Given the description of an element on the screen output the (x, y) to click on. 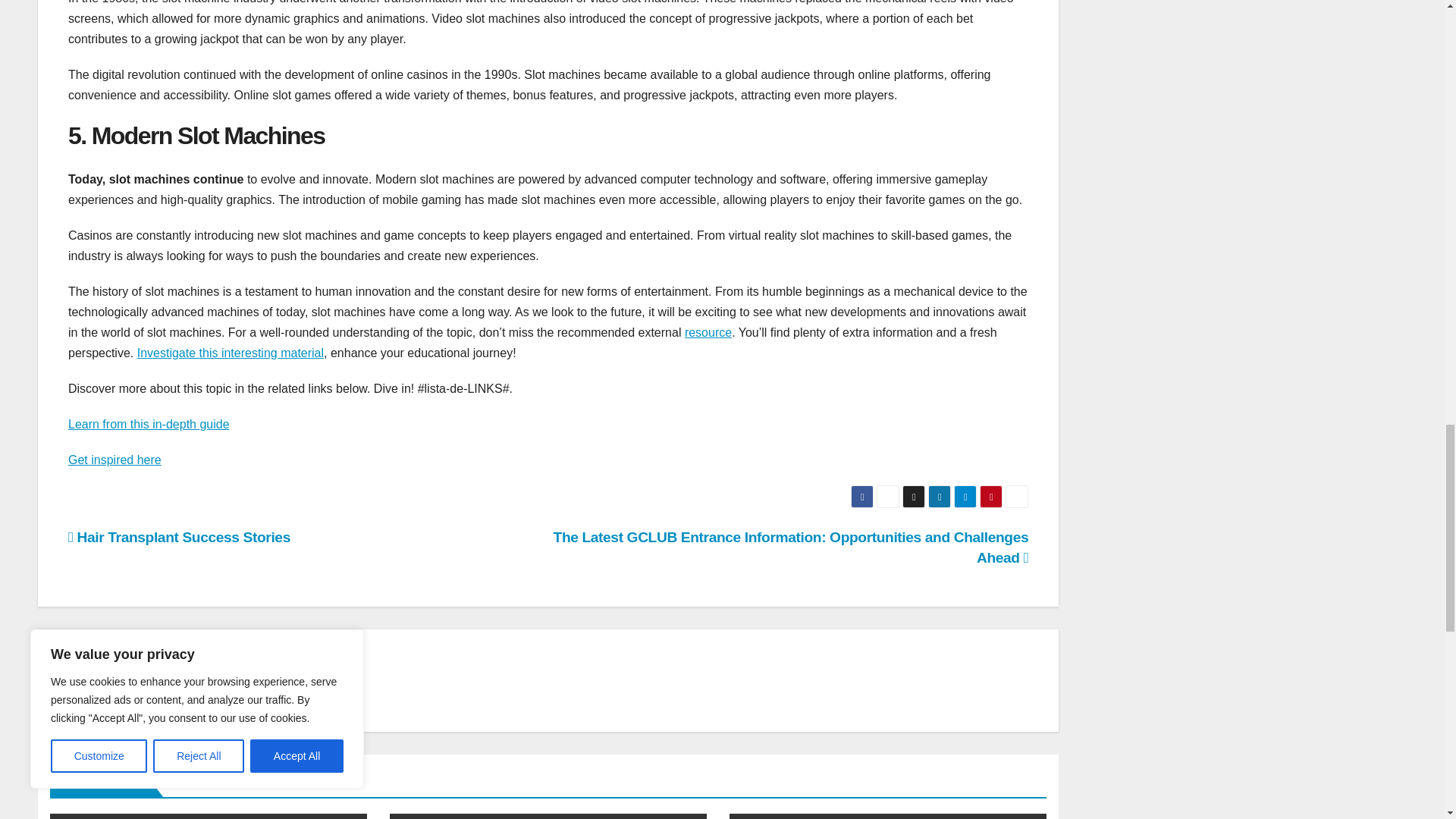
Investigate this interesting material (229, 352)
resource (708, 332)
Get inspired here (114, 459)
Learn from this in-depth guide (149, 423)
